Given the description of an element on the screen output the (x, y) to click on. 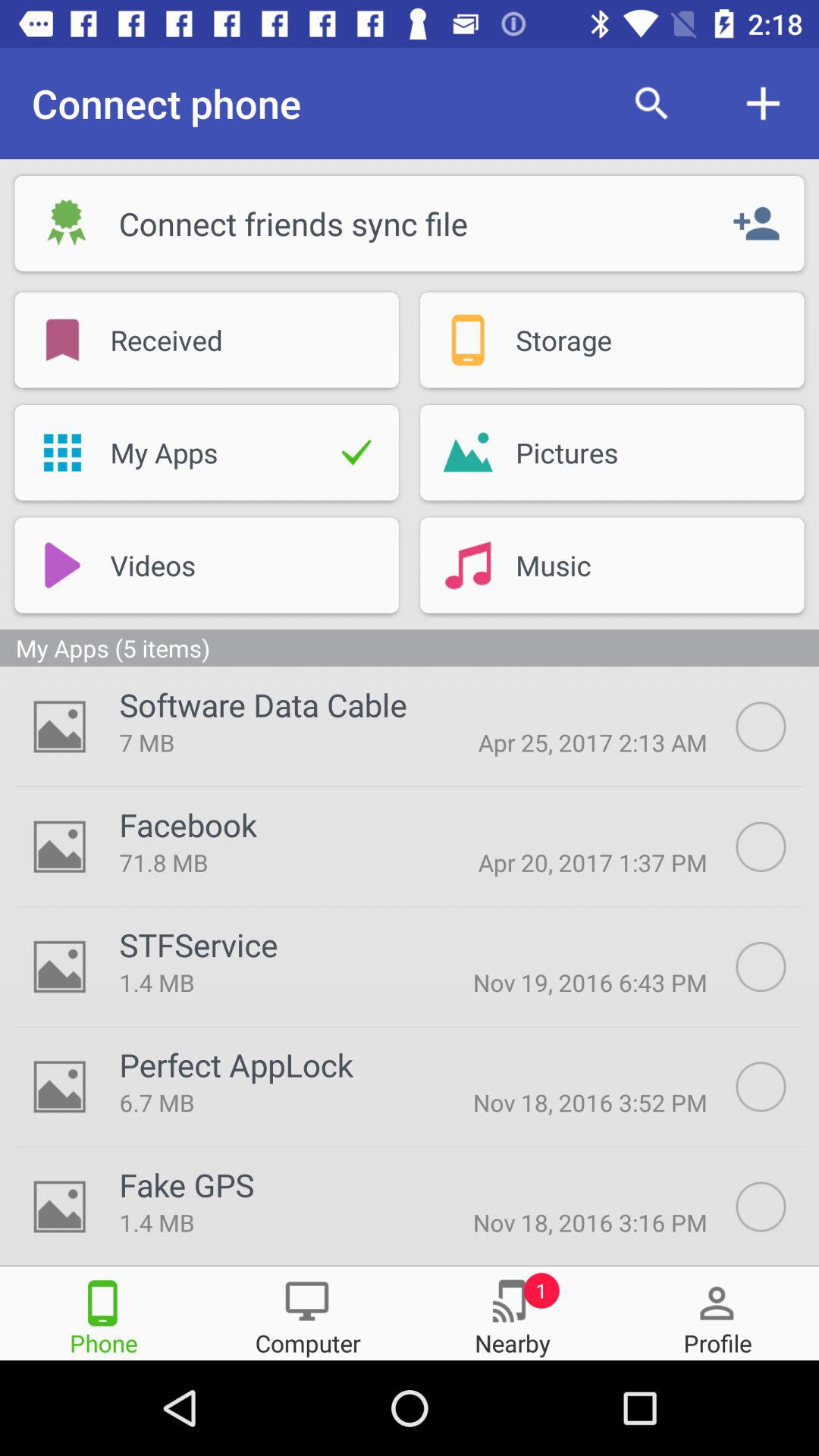
open item to the left of the nov 18 2016 icon (266, 1102)
